Given the description of an element on the screen output the (x, y) to click on. 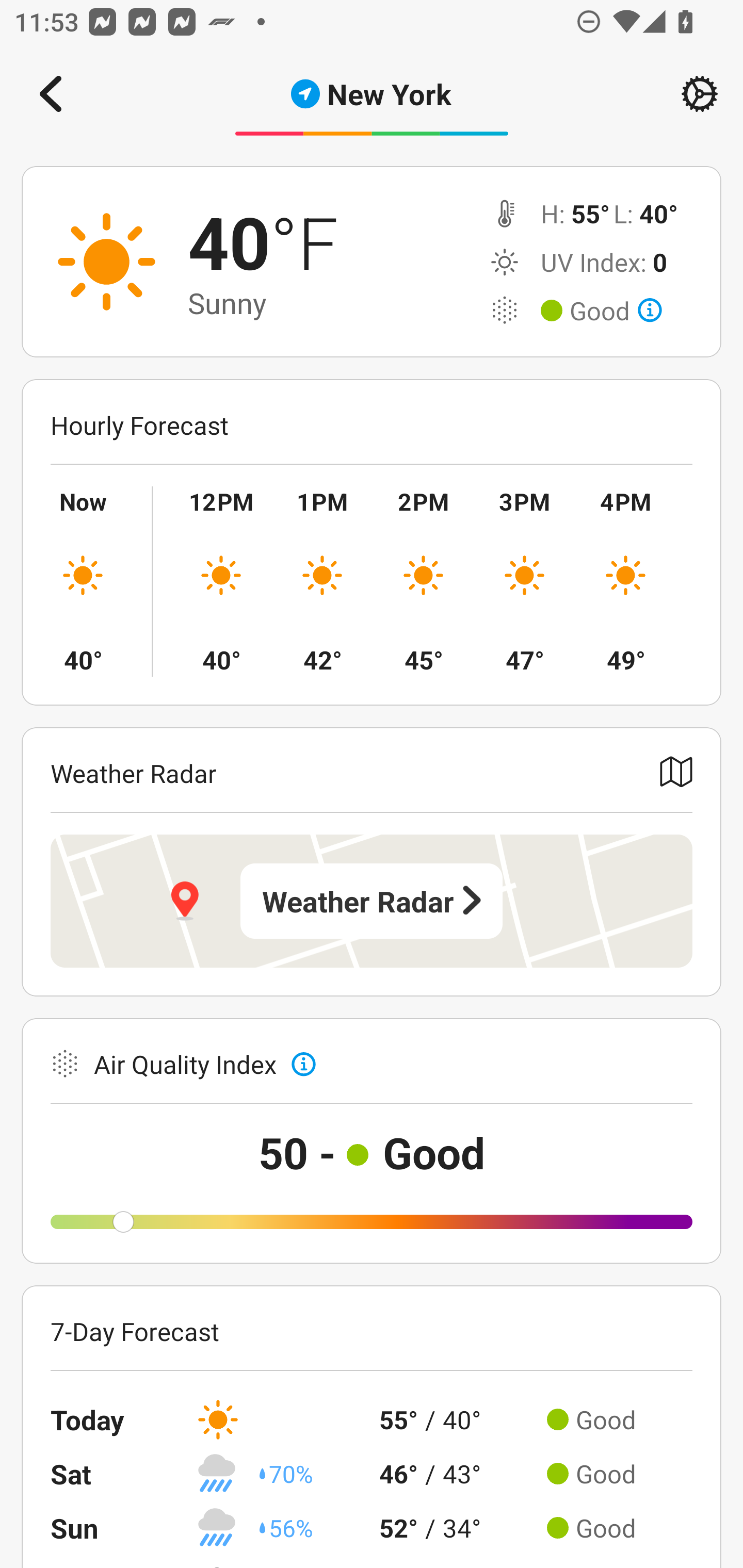
Navigate up (50, 93)
Setting (699, 93)
Good (615, 310)
Weather Radar (371, 900)
